Given the description of an element on the screen output the (x, y) to click on. 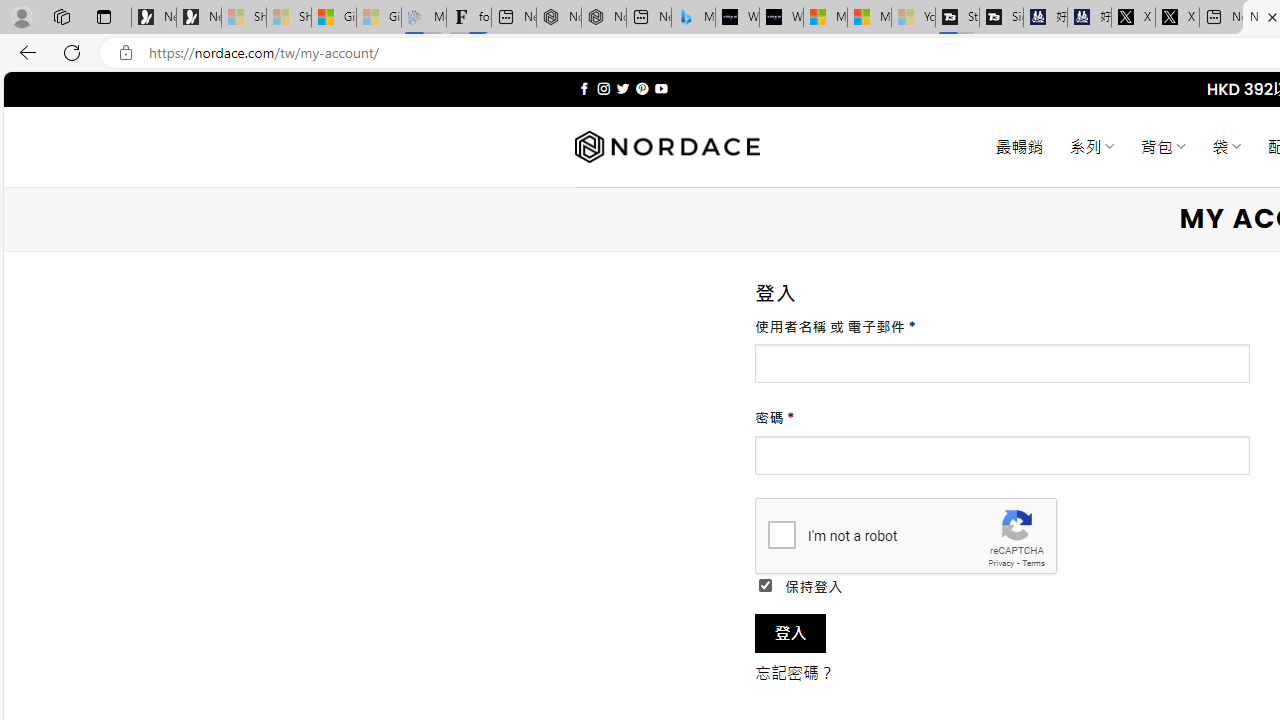
View site information (125, 53)
New tab (1220, 17)
Personal Profile (21, 16)
Back (24, 52)
Refresh (72, 52)
What's the best AI voice generator? - voice.ai (781, 17)
Newsletter Sign Up (198, 17)
Follow on Pinterest (642, 88)
Nordace (667, 147)
